Given the description of an element on the screen output the (x, y) to click on. 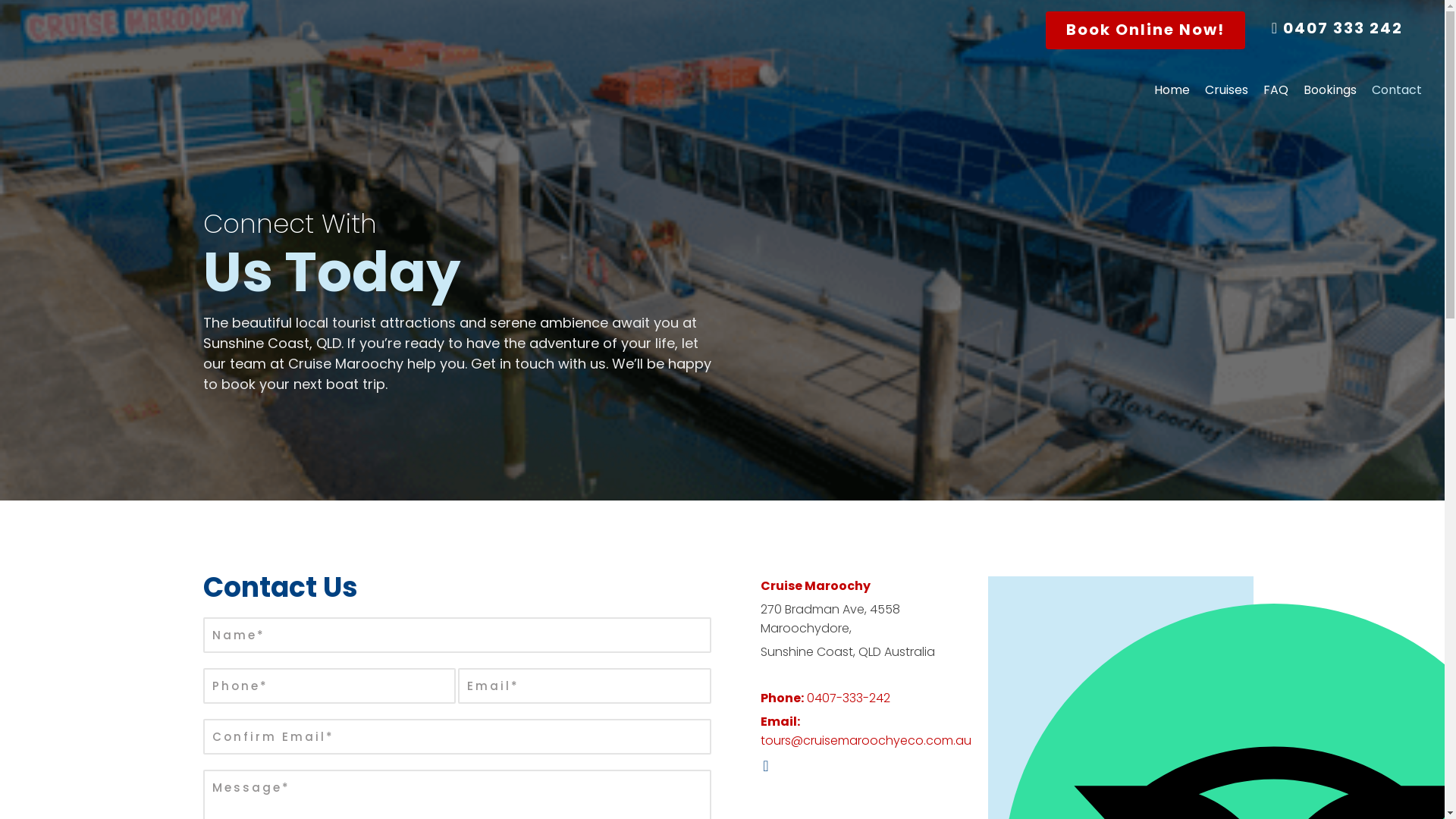
0407 333 242 Element type: text (1336, 28)
Book Online Now! Element type: text (1145, 30)
Cruises Element type: text (1218, 95)
FAQ Element type: text (1268, 95)
Contact Element type: text (1388, 95)
0407-333-242 Element type: text (848, 697)
Bookings Element type: text (1322, 95)
Home Element type: text (1164, 95)
tours@cruisemaroochyeco.com.au Element type: text (864, 740)
